Given the description of an element on the screen output the (x, y) to click on. 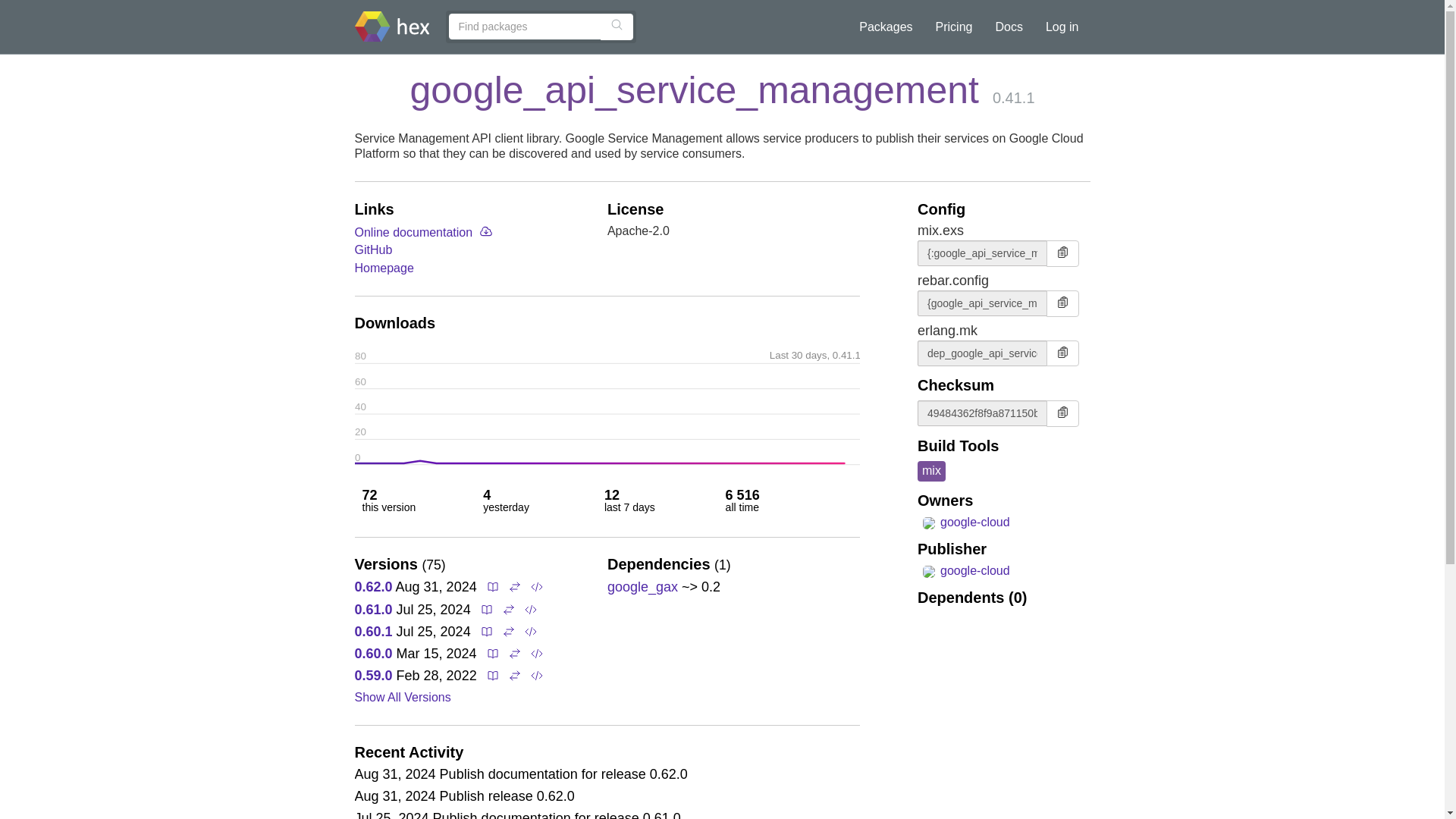
code-bracket (536, 587)
cloud-arrow-down (485, 230)
0.60.0 (374, 653)
Preview (535, 586)
book-open (492, 587)
book-open (486, 609)
Homepage (384, 267)
book-open (492, 586)
0.62.0 (374, 586)
GitHub (374, 249)
